Given the description of an element on the screen output the (x, y) to click on. 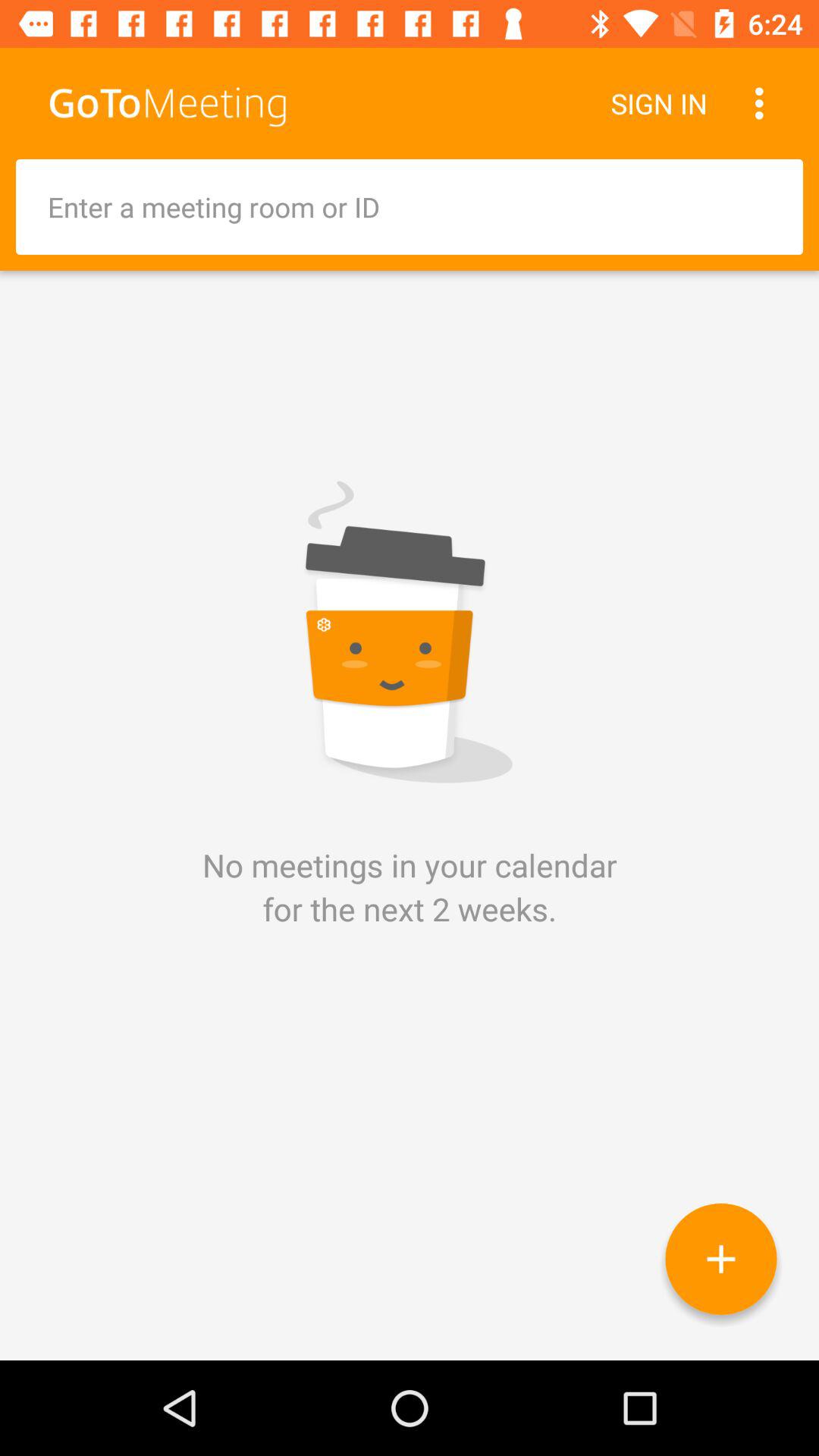
select the item next to sign in (763, 103)
